Given the description of an element on the screen output the (x, y) to click on. 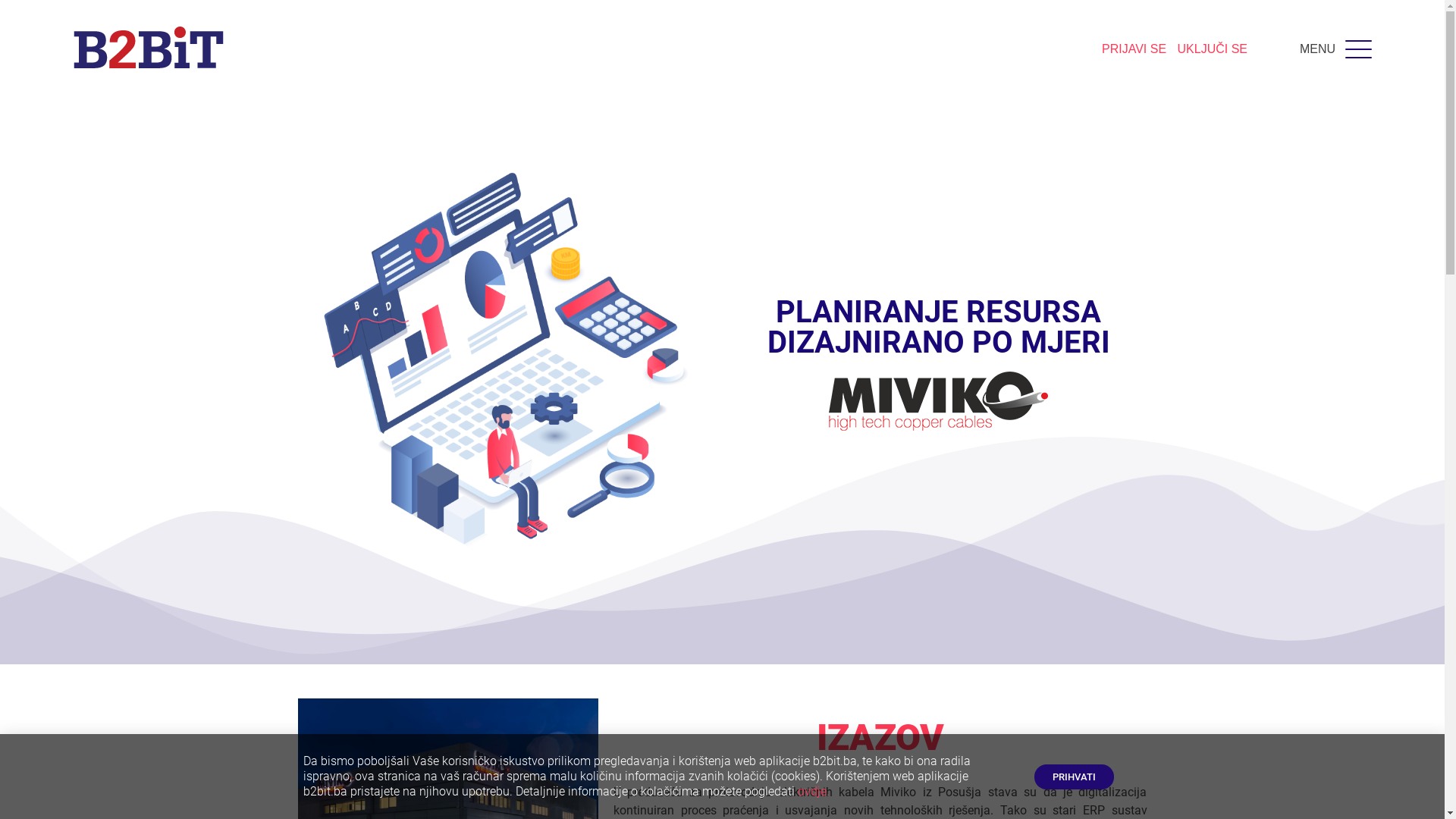
PRIJAVI SE Element type: text (1133, 48)
PRIHVATI Element type: text (1073, 776)
ovdje. Element type: text (813, 791)
